Given the description of an element on the screen output the (x, y) to click on. 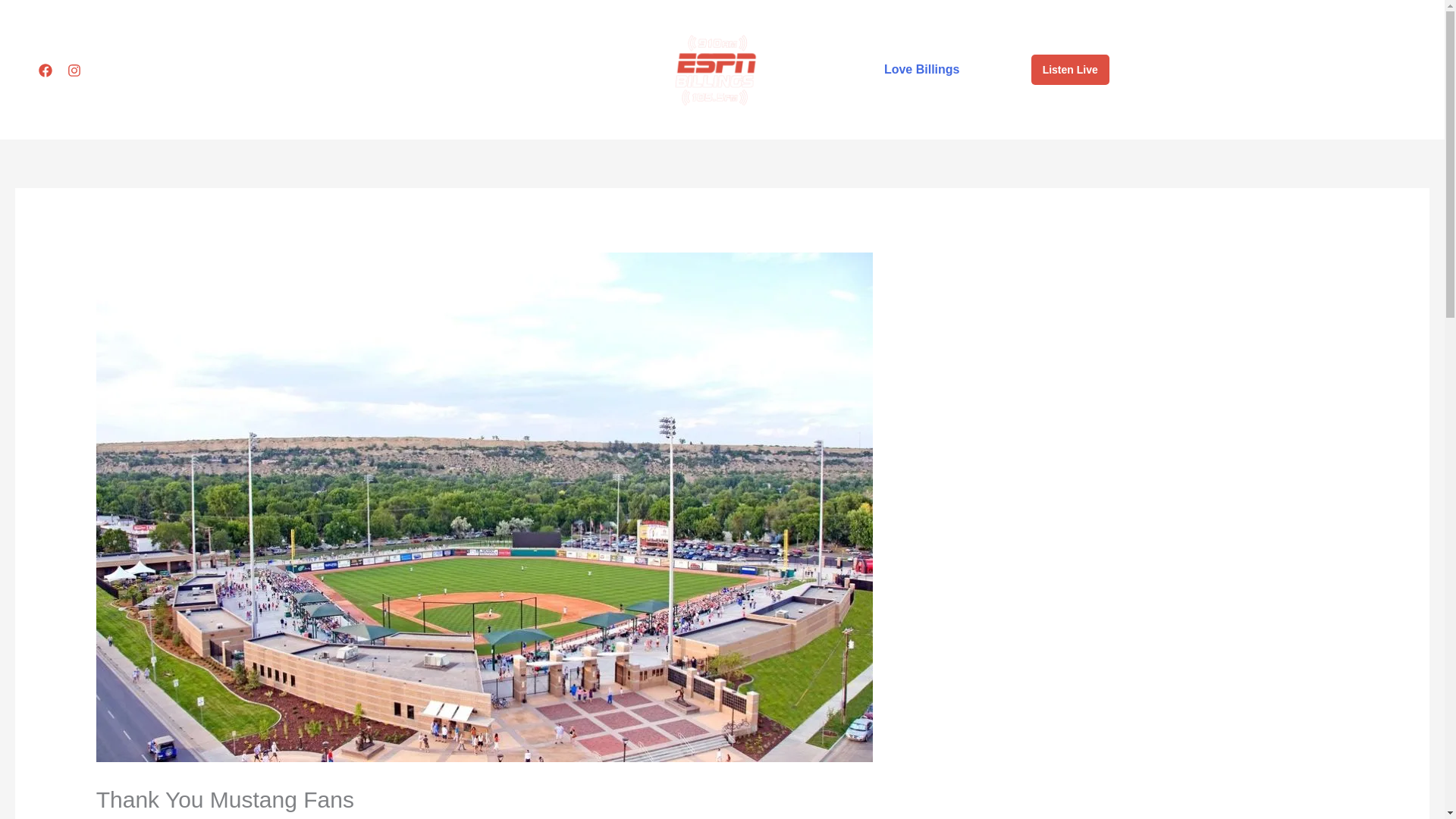
On Air (509, 72)
Contests (844, 69)
Listen Live (1069, 69)
Local Sports (589, 72)
Love Billings (921, 69)
Home (453, 72)
Contact (989, 69)
